Given the description of an element on the screen output the (x, y) to click on. 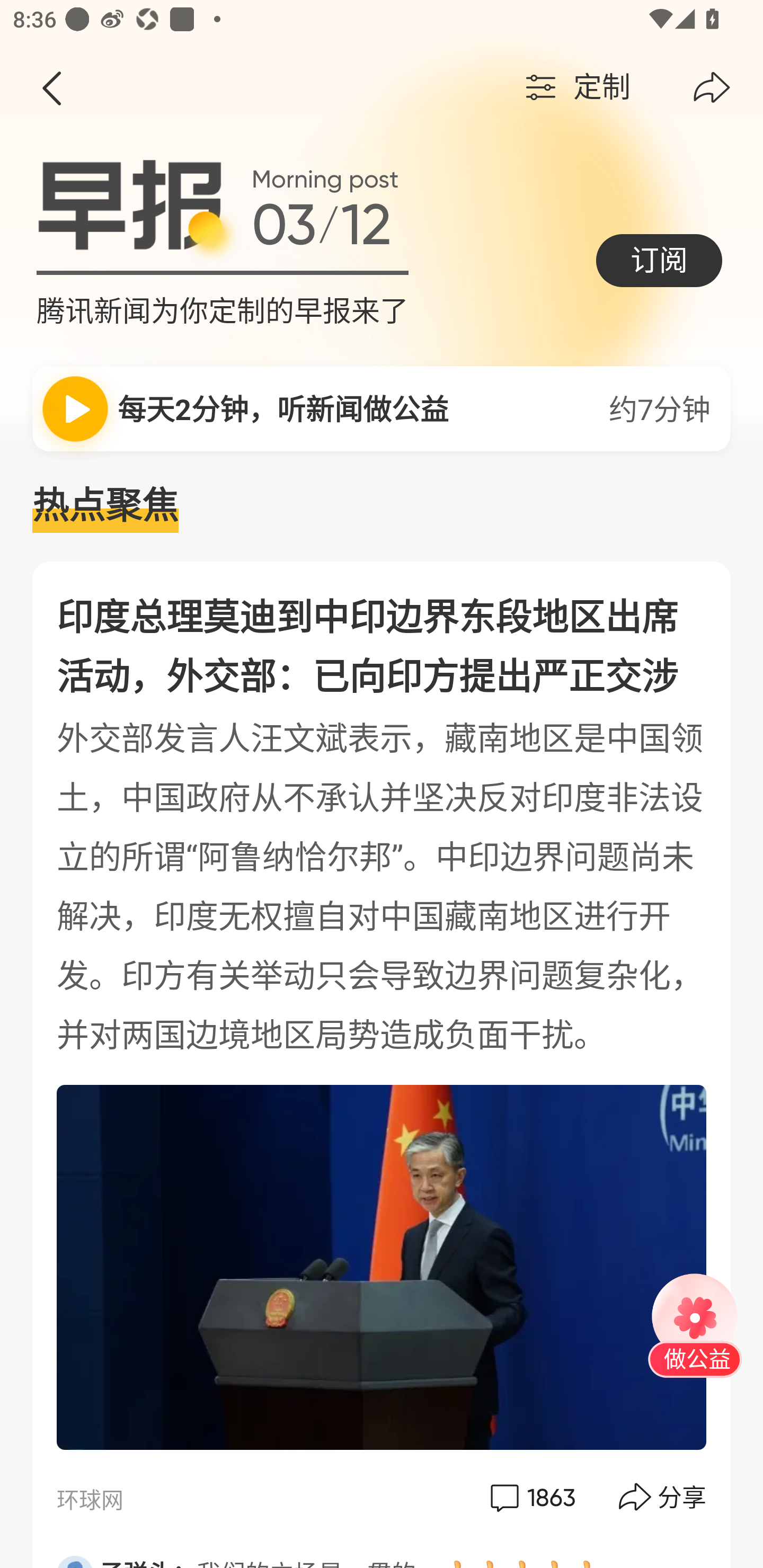
 (50, 87)
 定制 (575, 87)
 (711, 87)
订阅 (658, 259)
 每天2分钟，听新闻做公益 约7分钟 (381, 407)
热点聚焦 (381, 506)
评论  1863 (531, 1497)
 分享 (663, 1497)
